Given the description of an element on the screen output the (x, y) to click on. 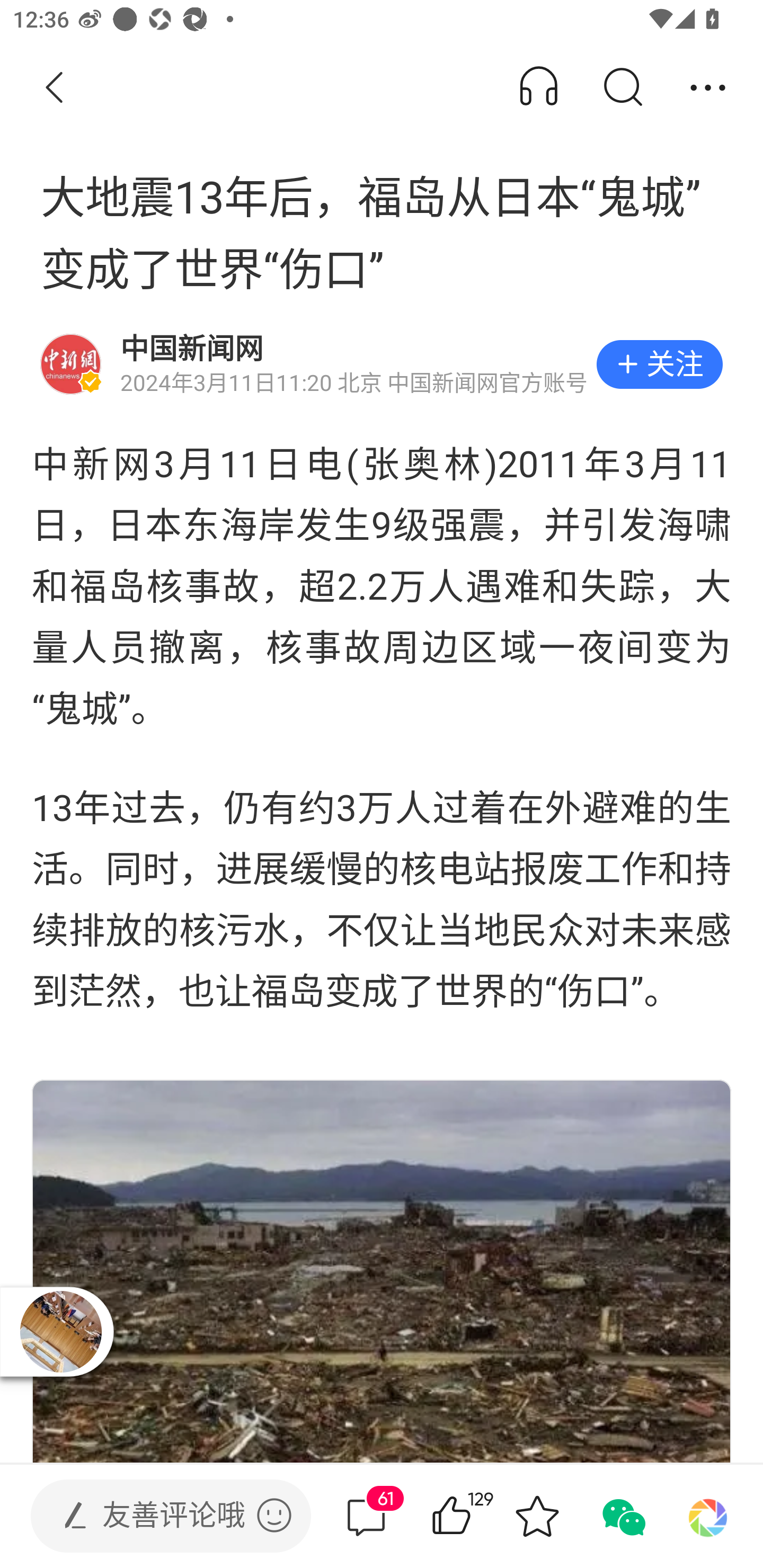
搜索  (622, 87)
分享  (707, 87)
 返回 (54, 87)
中国新闻网 2024年3月11日11:20 北京 中国新闻网官方账号  关注 (381, 364)
 关注 (659, 364)
新闻图片 (381, 1271)
播放器 (60, 1330)
发表评论  友善评论哦 发表评论  (155, 1516)
61评论  61 评论 (365, 1516)
129赞 (476, 1516)
收藏  (536, 1516)
分享到微信  (622, 1516)
分享到朋友圈 (707, 1516)
 (274, 1515)
